Given the description of an element on the screen output the (x, y) to click on. 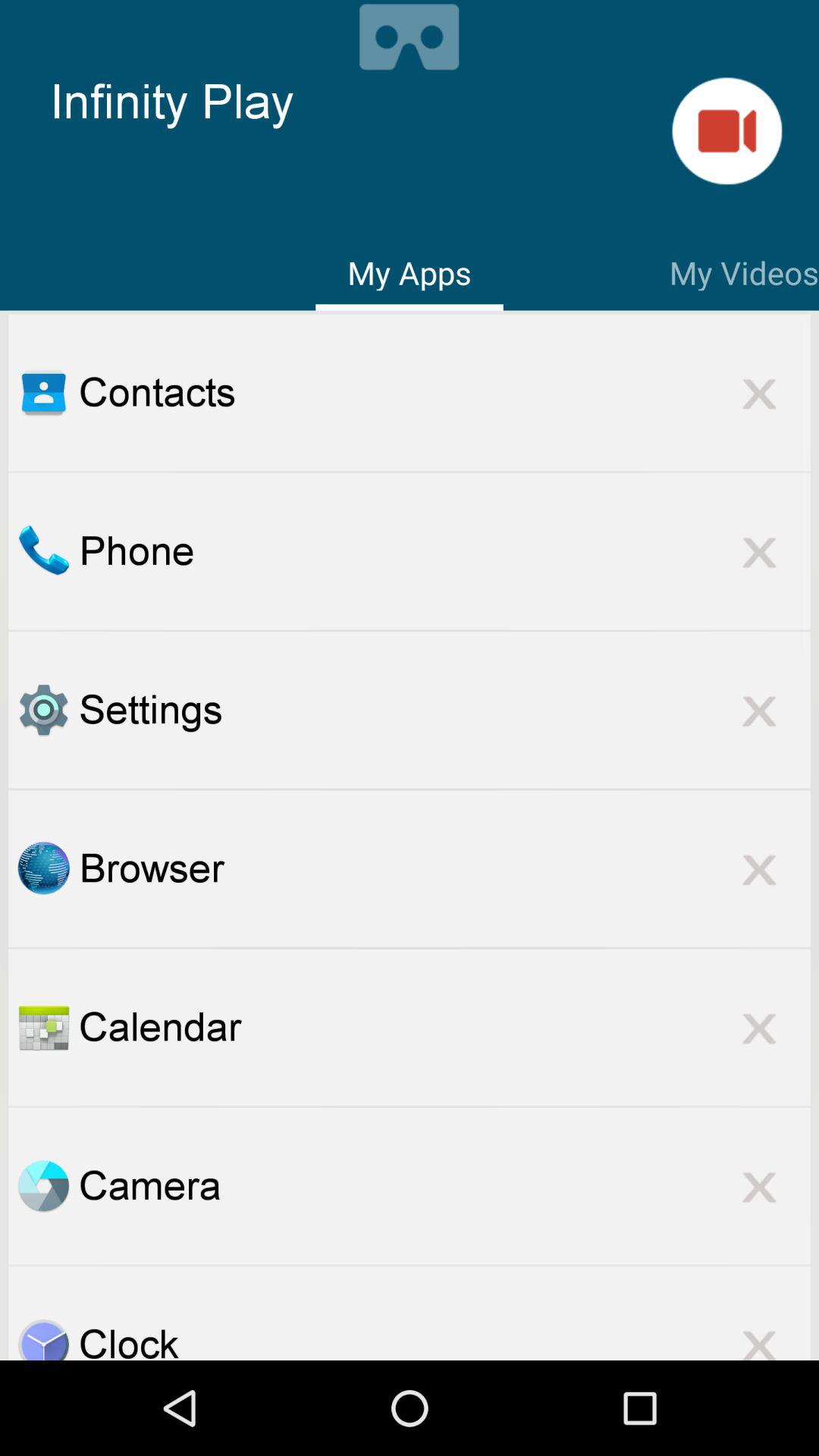
open the calendar (43, 1026)
